Given the description of an element on the screen output the (x, y) to click on. 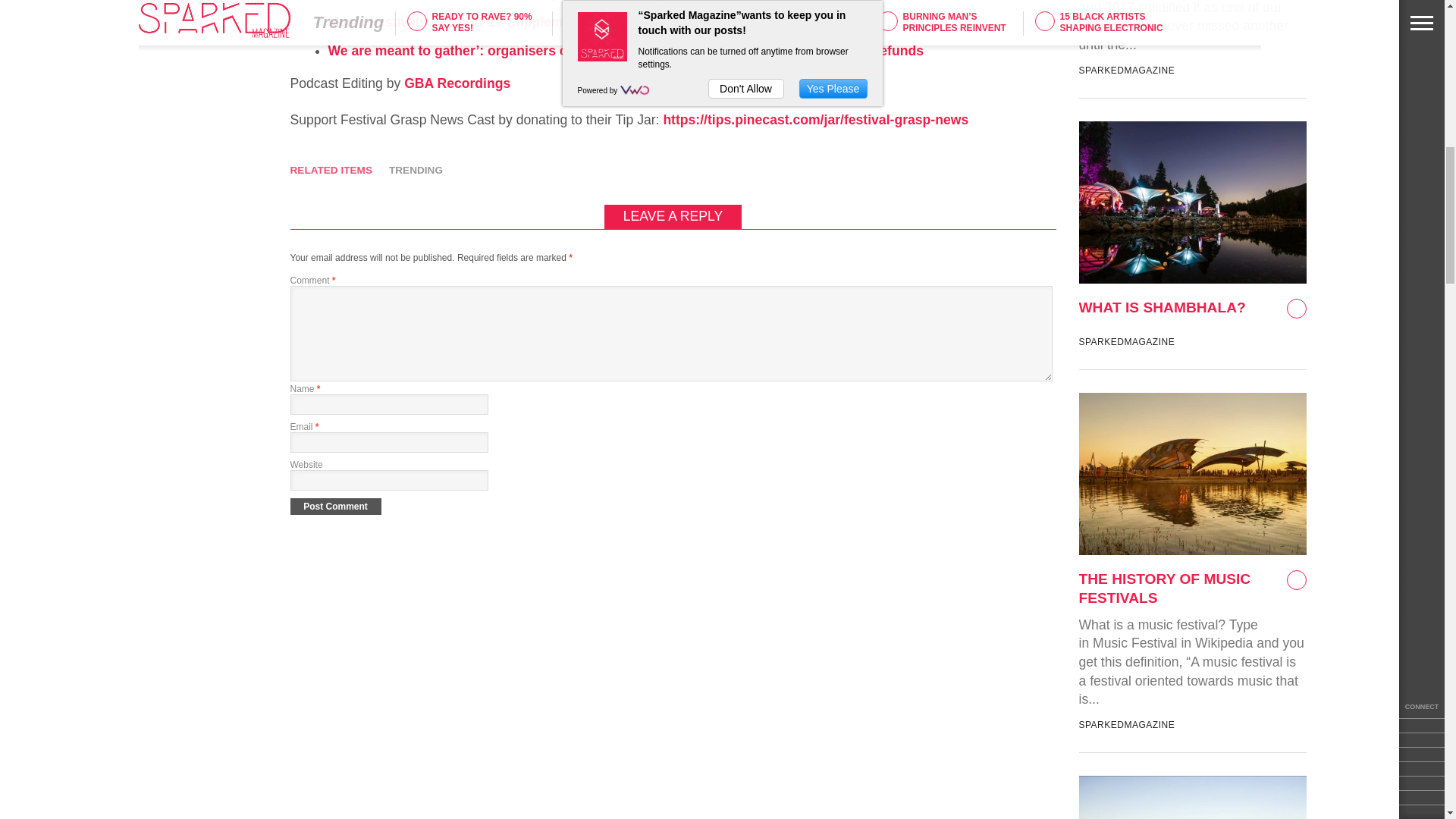
Post Comment (334, 505)
